Given the description of an element on the screen output the (x, y) to click on. 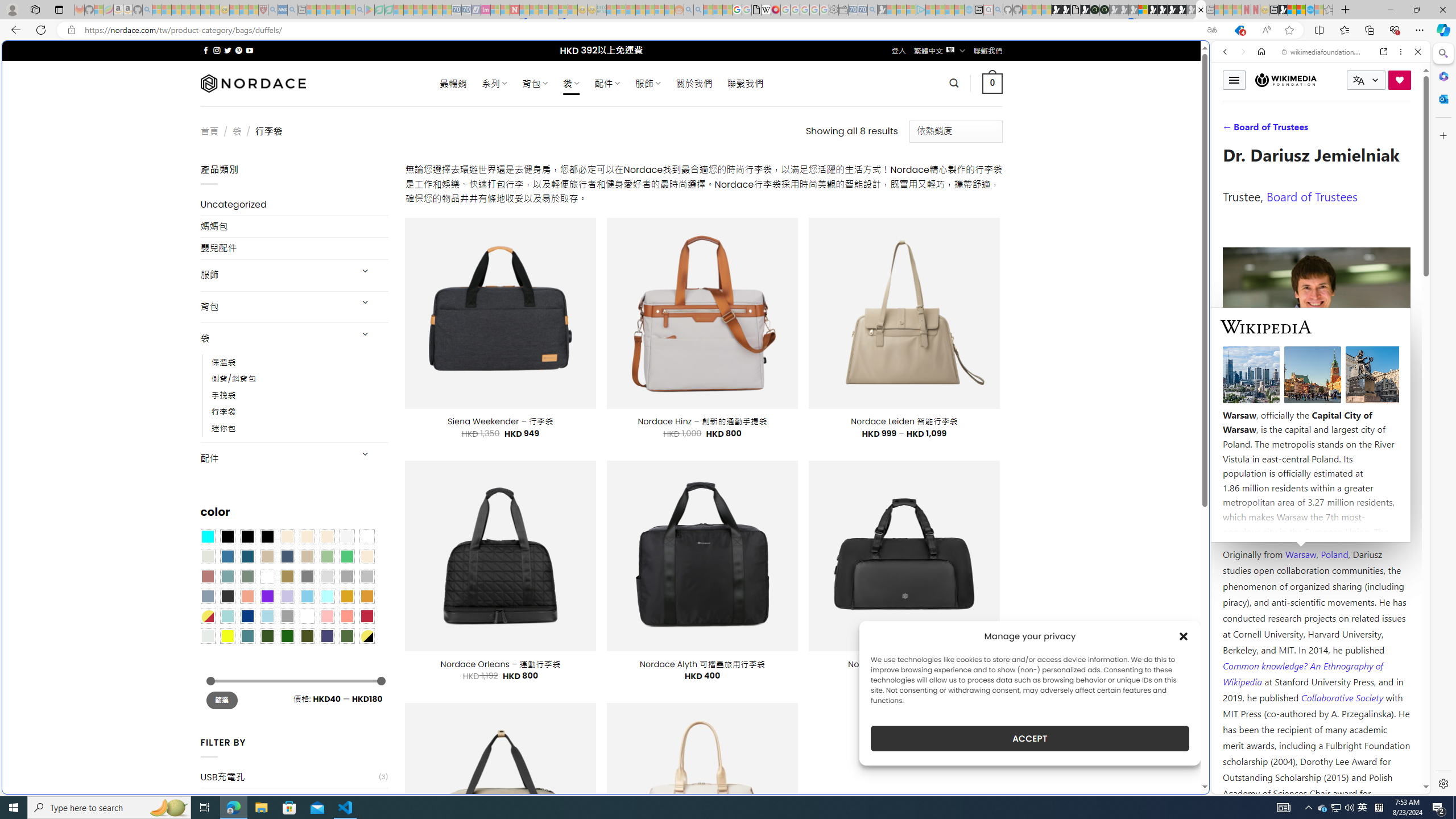
Search or enter web address (922, 108)
wikimediafoundation.org (1323, 51)
